Given the description of an element on the screen output the (x, y) to click on. 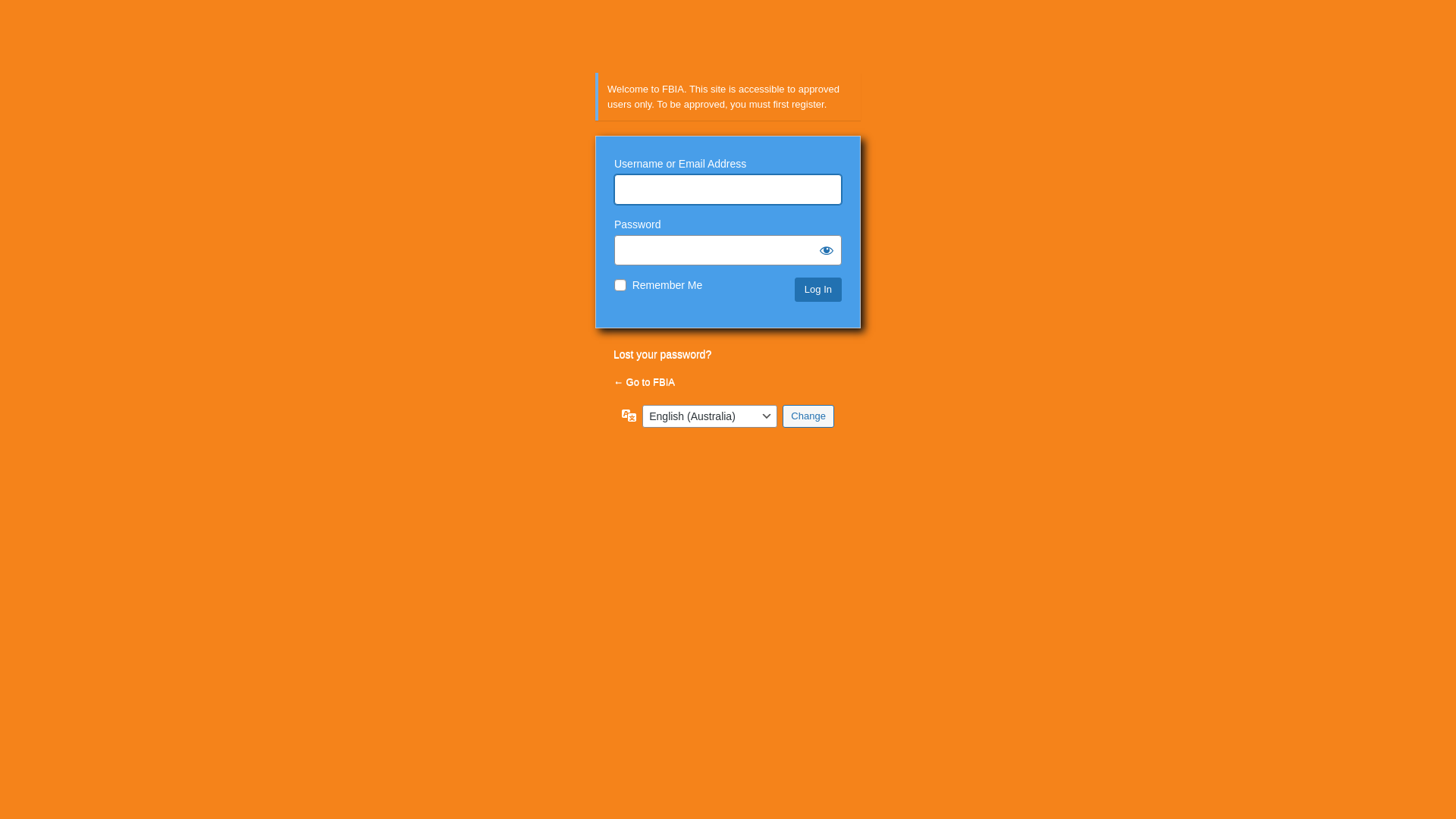
Log In Element type: text (817, 289)
Change Element type: text (808, 415)
Lost your password? Element type: text (662, 354)
